Given the description of an element on the screen output the (x, y) to click on. 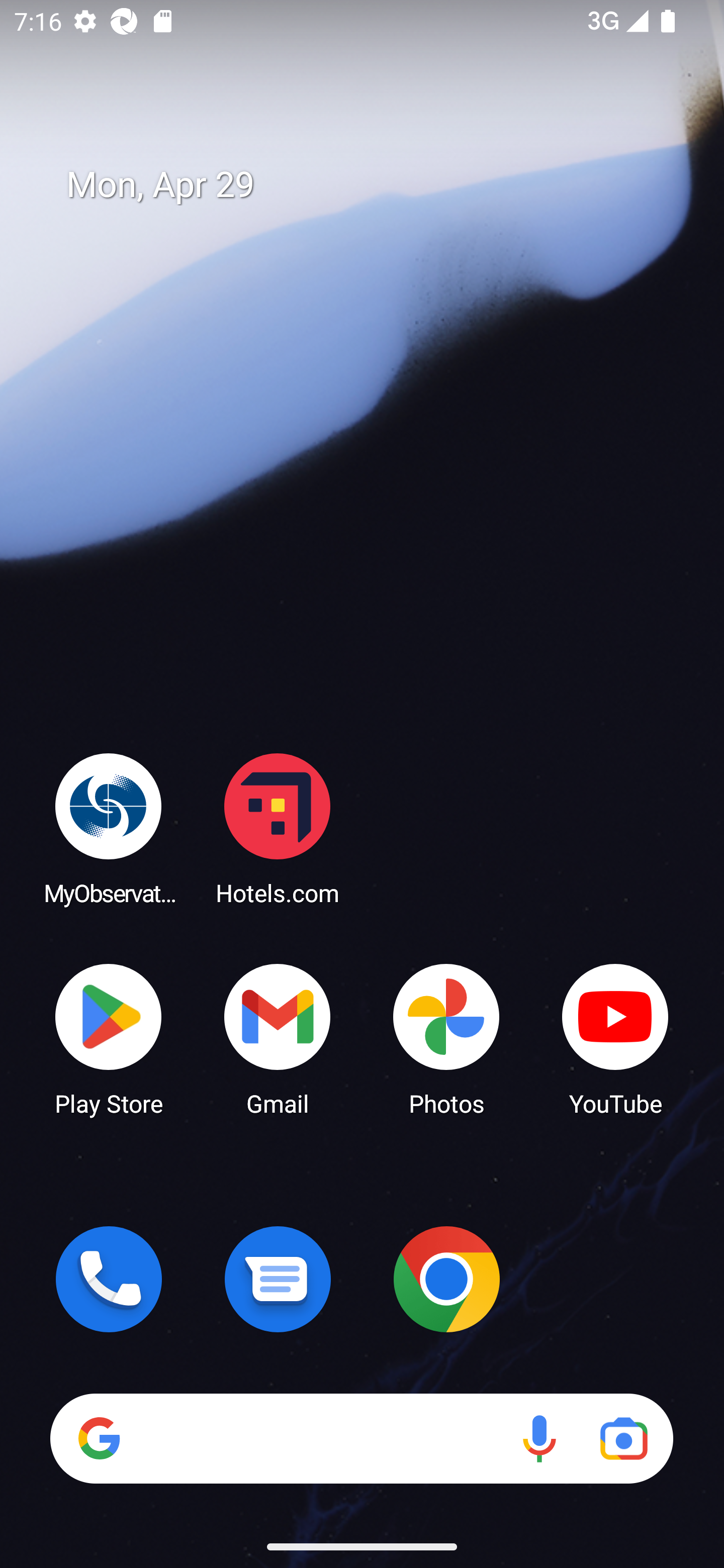
Mon, Apr 29 (375, 184)
MyObservatory (108, 828)
Hotels.com (277, 828)
Play Store (108, 1038)
Gmail (277, 1038)
Photos (445, 1038)
YouTube (615, 1038)
Phone (108, 1279)
Messages (277, 1279)
Chrome (446, 1279)
Search Voice search Google Lens (361, 1438)
Voice search (539, 1438)
Google Lens (623, 1438)
